Given the description of an element on the screen output the (x, y) to click on. 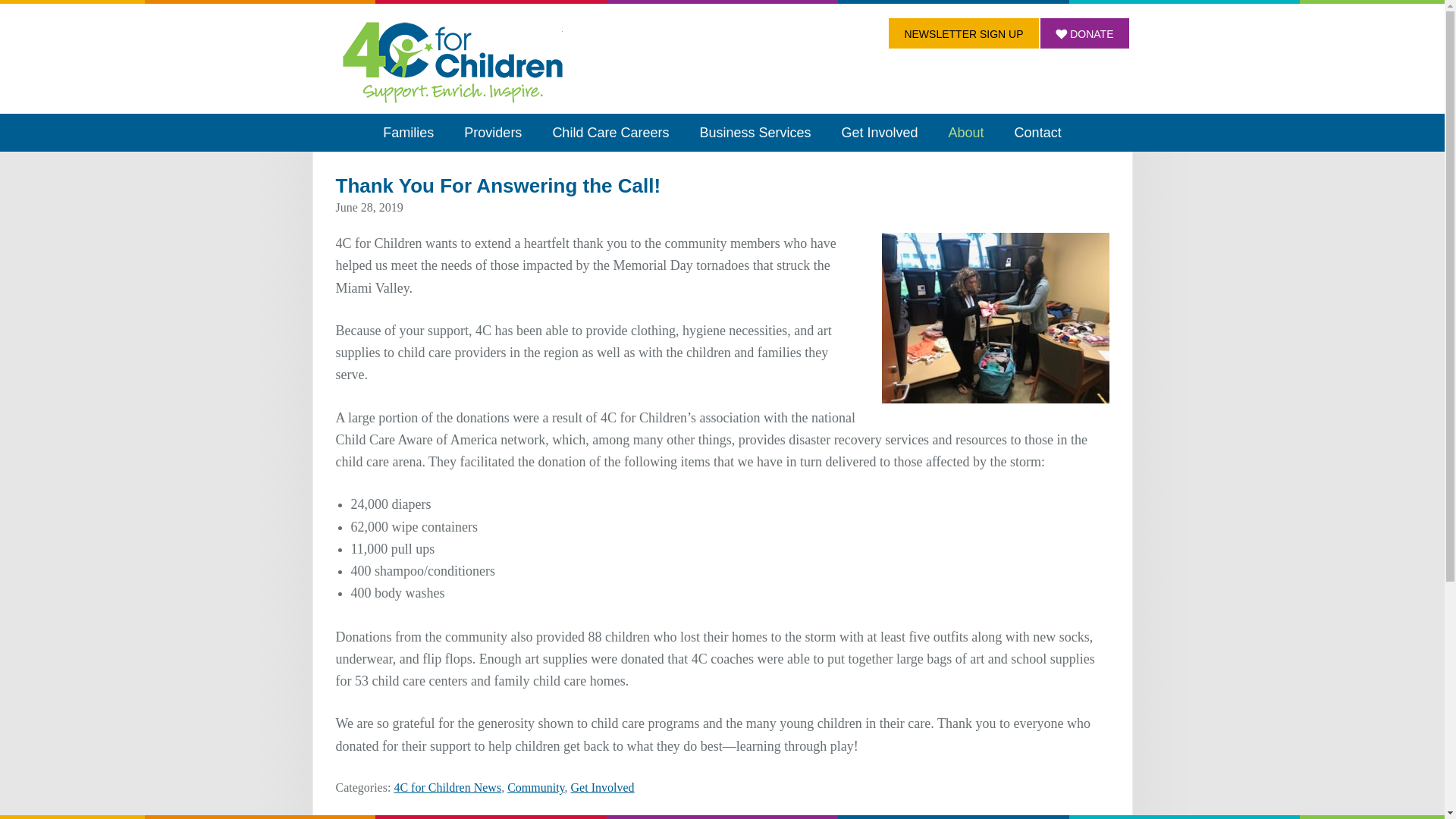
Families (408, 132)
4C for Children (452, 61)
Providers (492, 132)
NEWSLETTER SIGN UP (963, 33)
DONATE (1085, 33)
